Given the description of an element on the screen output the (x, y) to click on. 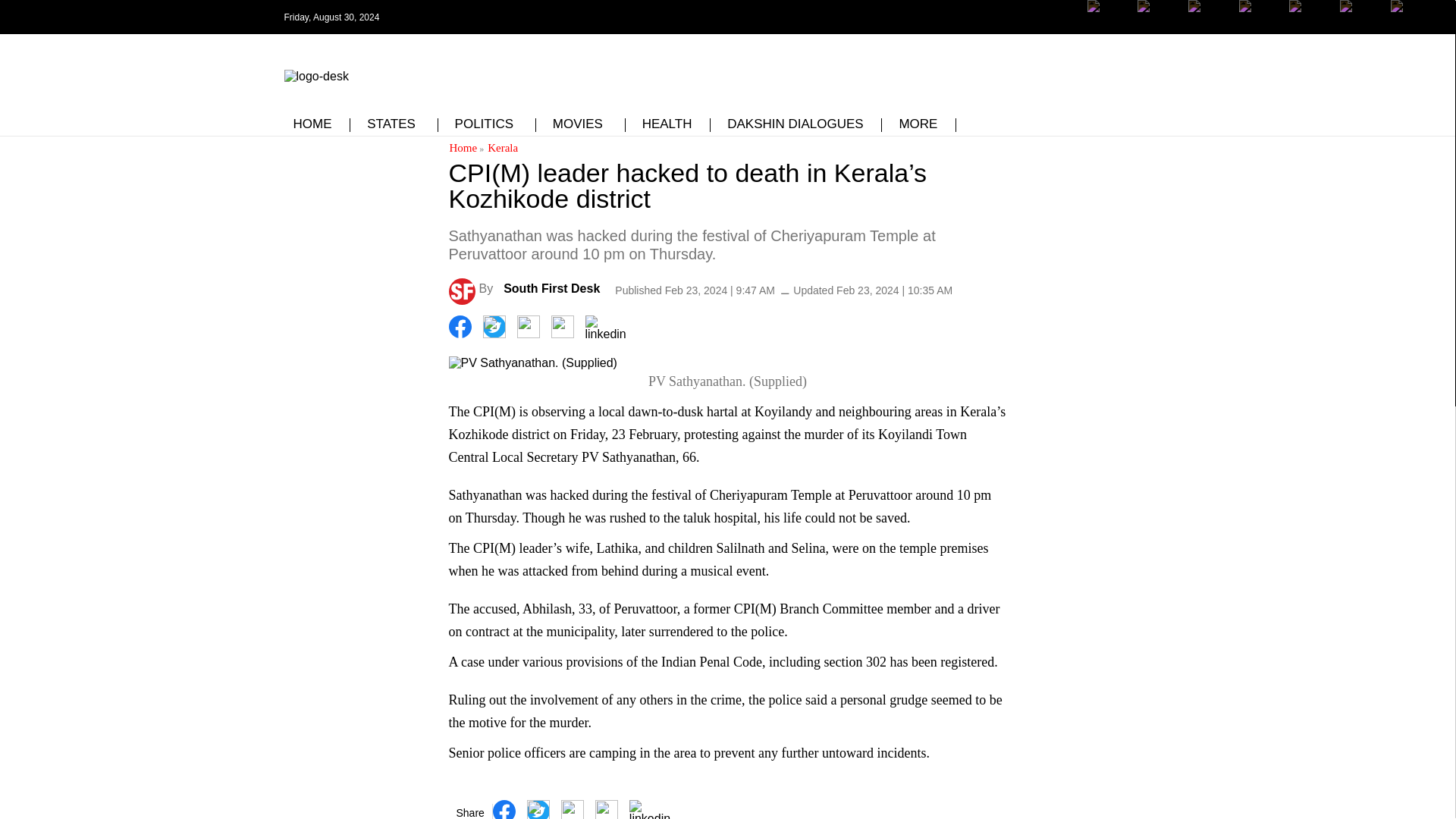
SouthFirst youtube (1309, 16)
SouthFirst twitter (1158, 16)
SouthFirst youtube (1309, 27)
logo-desk (315, 76)
SouthFirst facebook (1108, 16)
SouthFirst twitter (1158, 27)
SouthFirst instagram (1209, 27)
SouthFirst youtube (1260, 16)
logo (315, 72)
SouthFirst facebook (1108, 27)
